Given the description of an element on the screen output the (x, y) to click on. 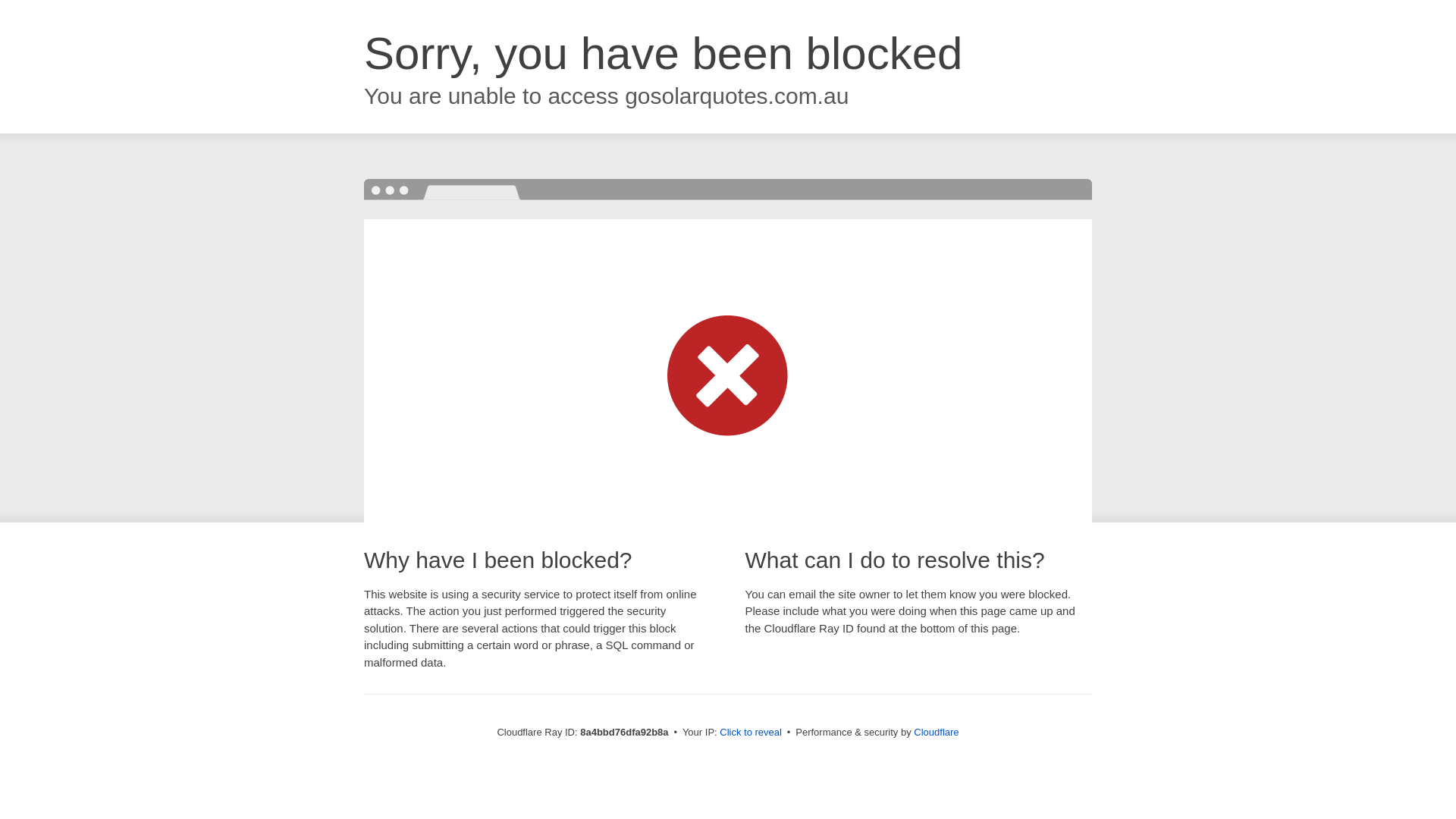
Click to reveal (750, 732)
Cloudflare (936, 731)
